Given the description of an element on the screen output the (x, y) to click on. 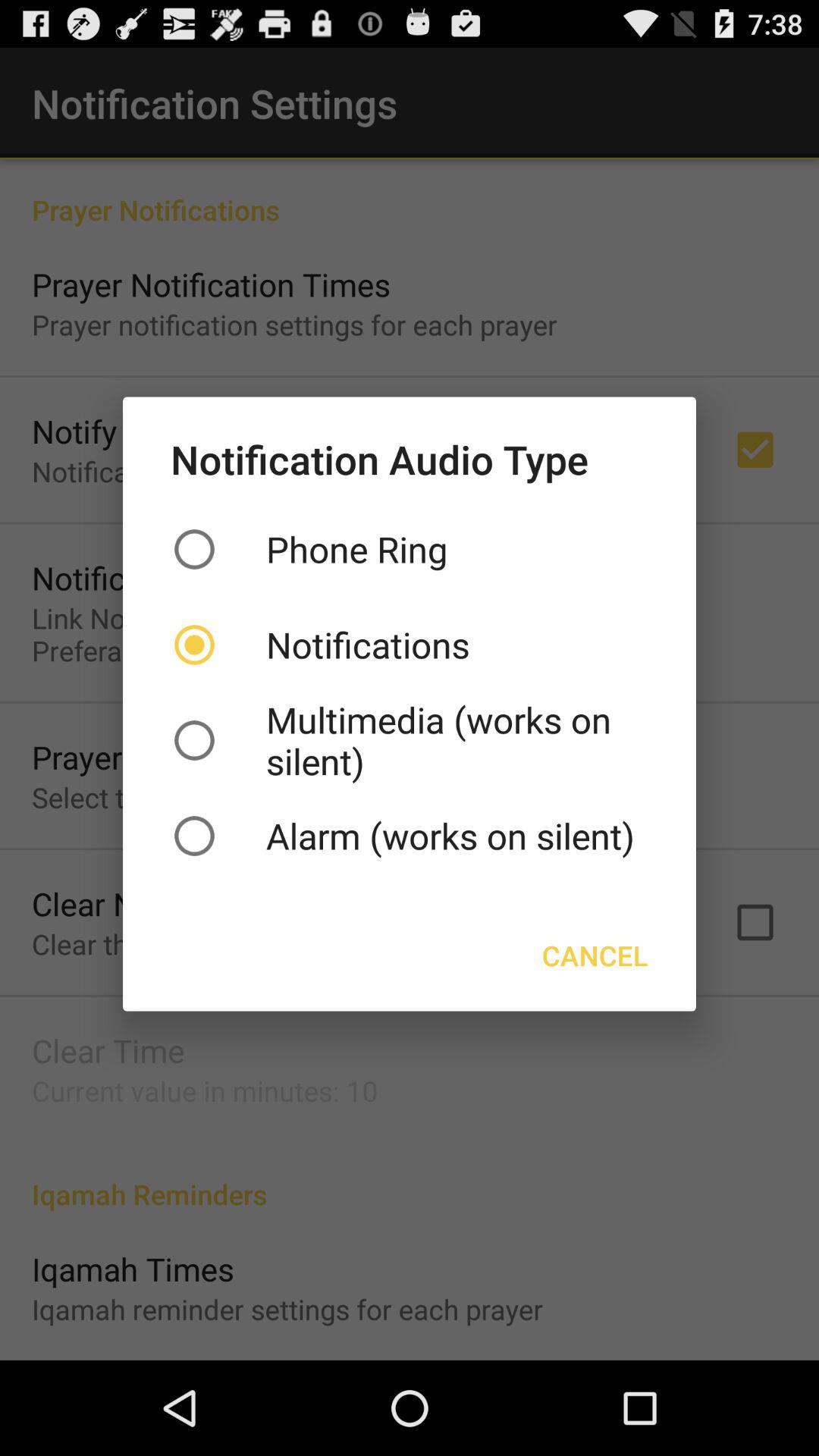
choose the cancel item (595, 955)
